Given the description of an element on the screen output the (x, y) to click on. 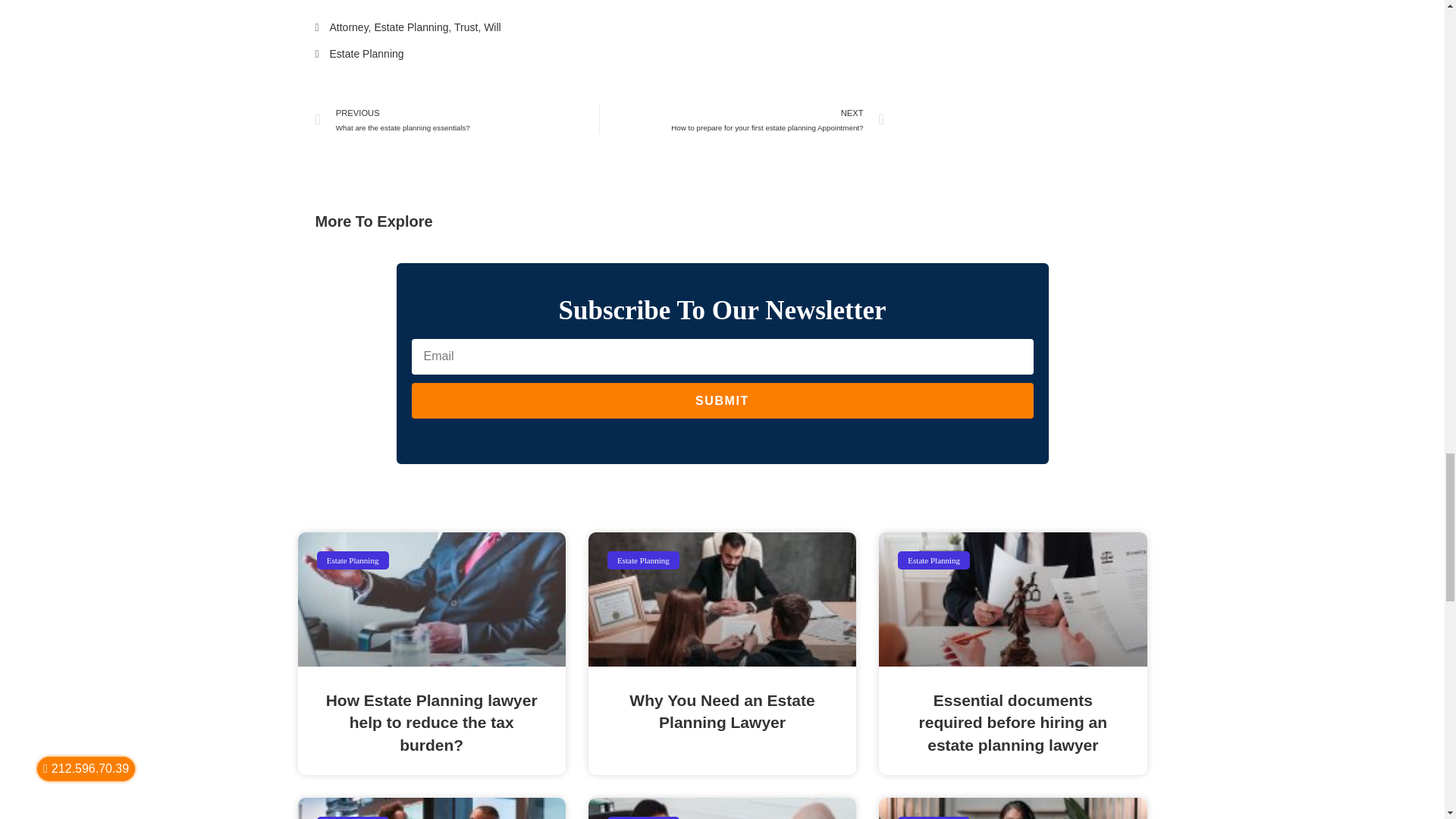
Estate Planning (366, 53)
Will (491, 27)
Trust (465, 27)
Estate Planning (411, 27)
Attorney (457, 119)
